Given the description of an element on the screen output the (x, y) to click on. 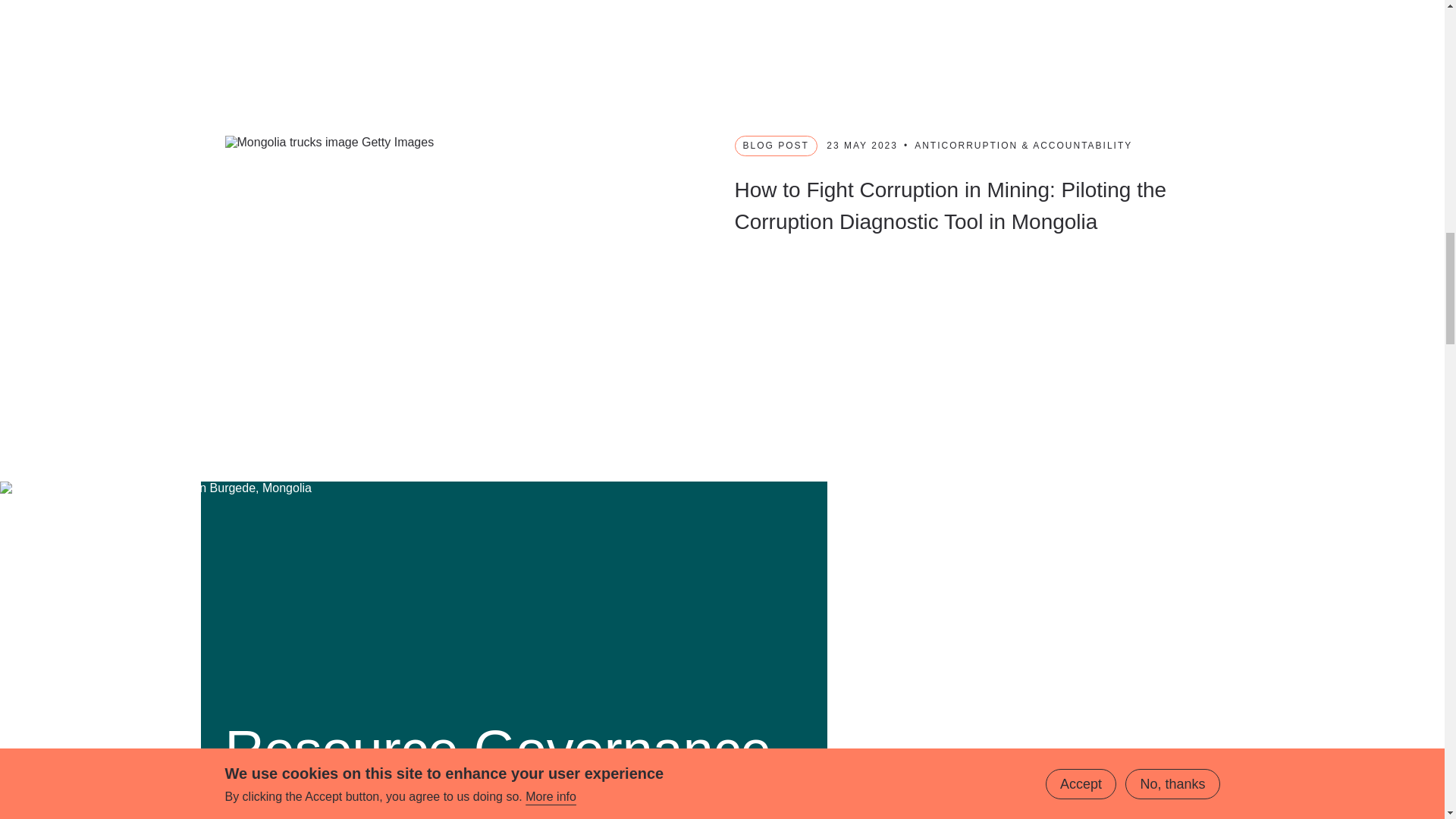
Watch NRGI in Mongolia (722, 31)
